Given the description of an element on the screen output the (x, y) to click on. 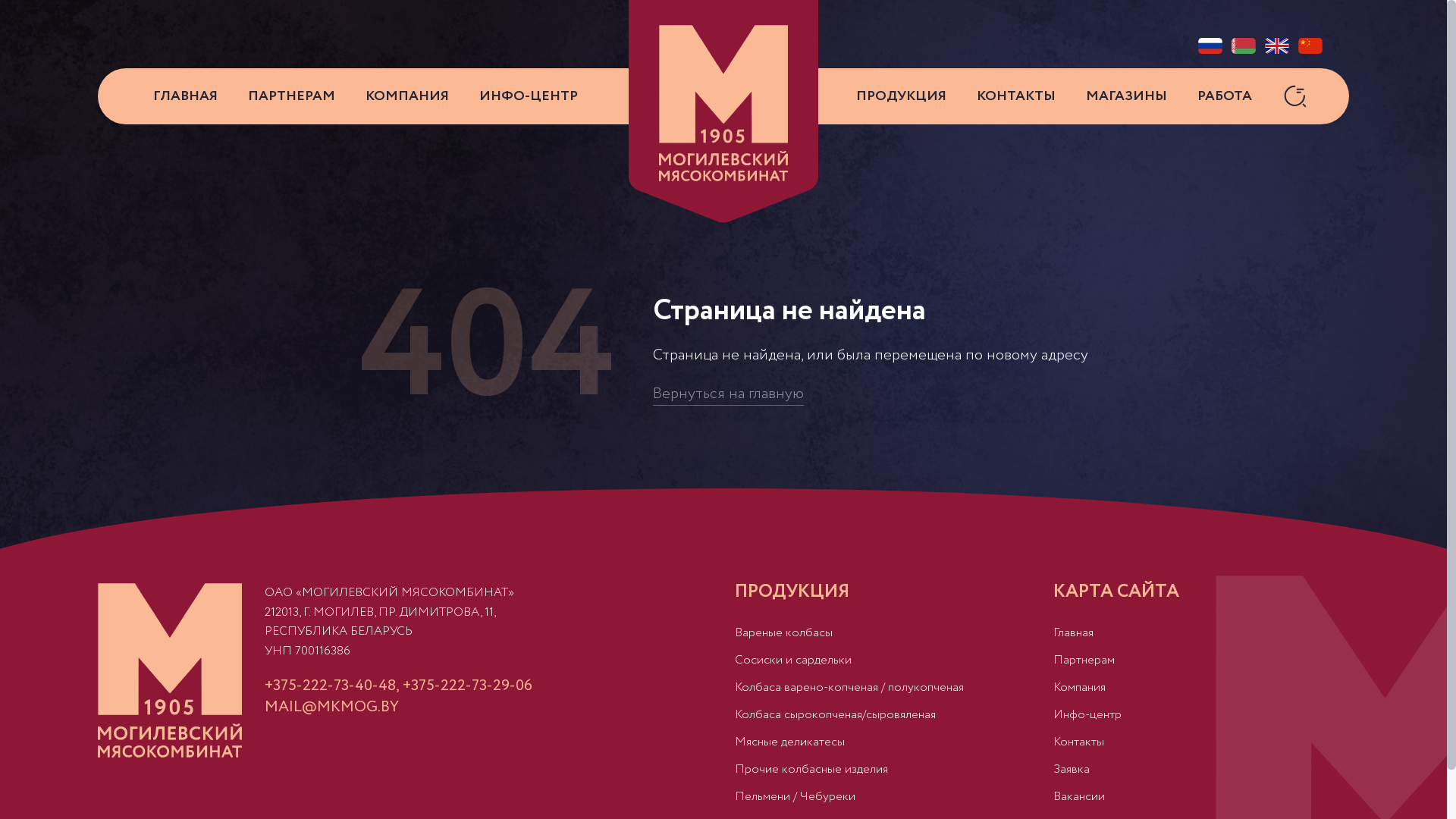
+375-222-73-29-06 Element type: text (467, 685)
+375-222-73-40-48 Element type: text (329, 685)
MAIL@MKMOG.BY Element type: text (331, 707)
